Given the description of an element on the screen output the (x, y) to click on. 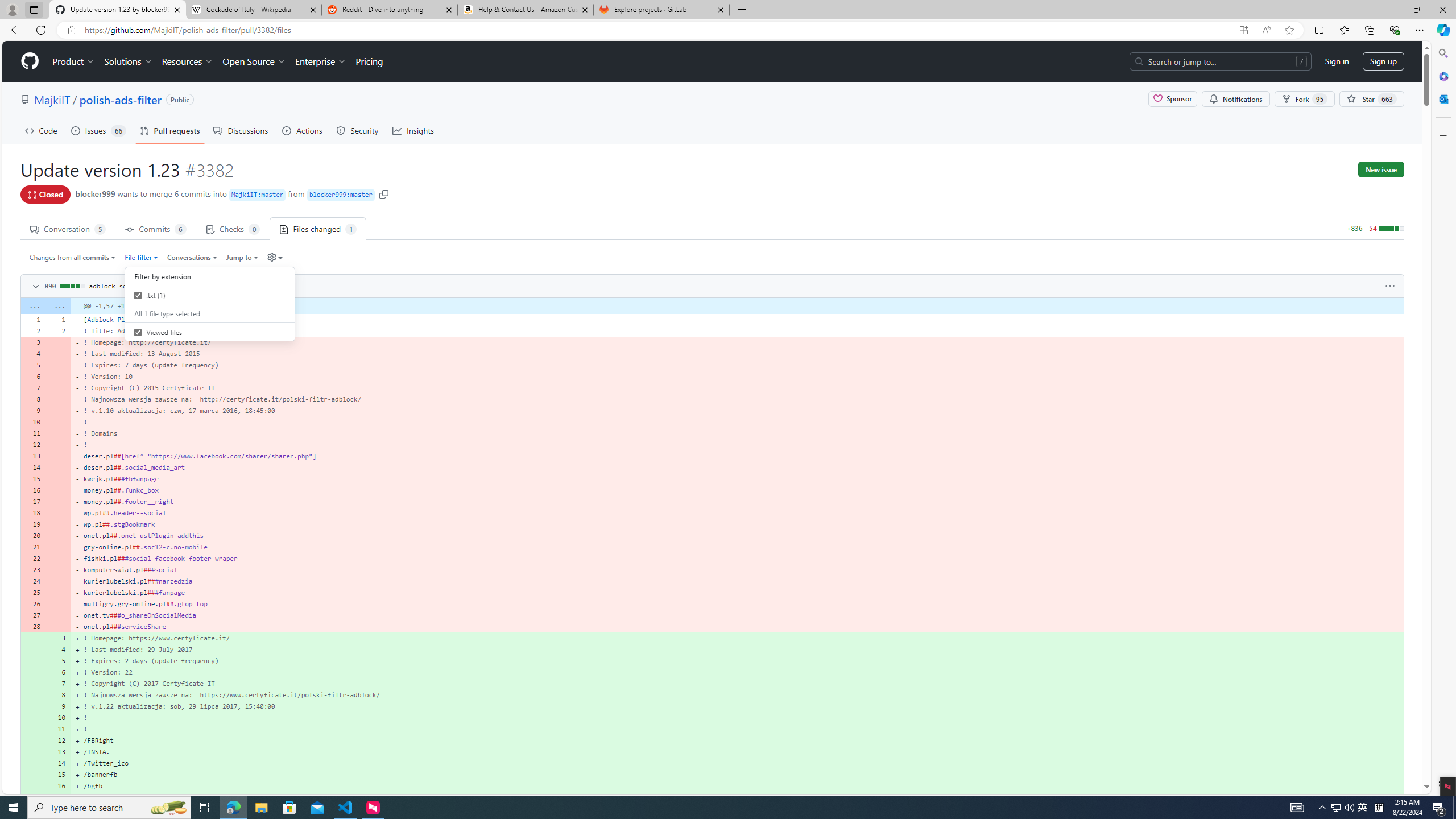
Conversations (192, 257)
Issues 66 (98, 130)
+ ! Version: 22 (737, 672)
 Star 663 (1371, 98)
20 (33, 535)
+ /INSTA.  (737, 751)
Pull requests (170, 130)
- onet.pl##.onet_ustPlugin_addthis (737, 535)
Sign up (1382, 61)
Product (74, 60)
24 (33, 581)
- onet.tv###o_shareOnSocialMedia (737, 614)
File filter (141, 257)
